Given the description of an element on the screen output the (x, y) to click on. 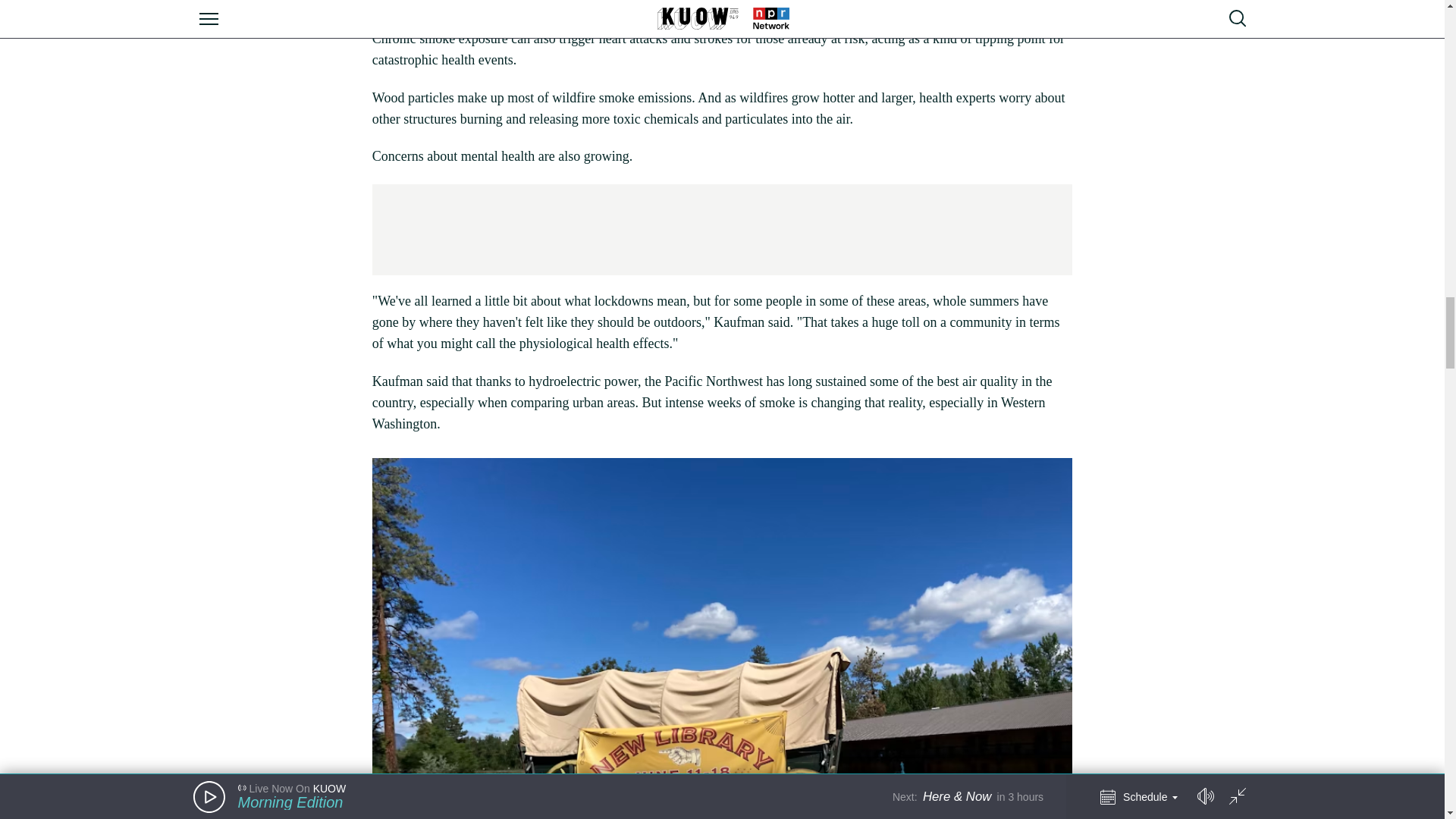
3rd party ad content (721, 229)
